Given the description of an element on the screen output the (x, y) to click on. 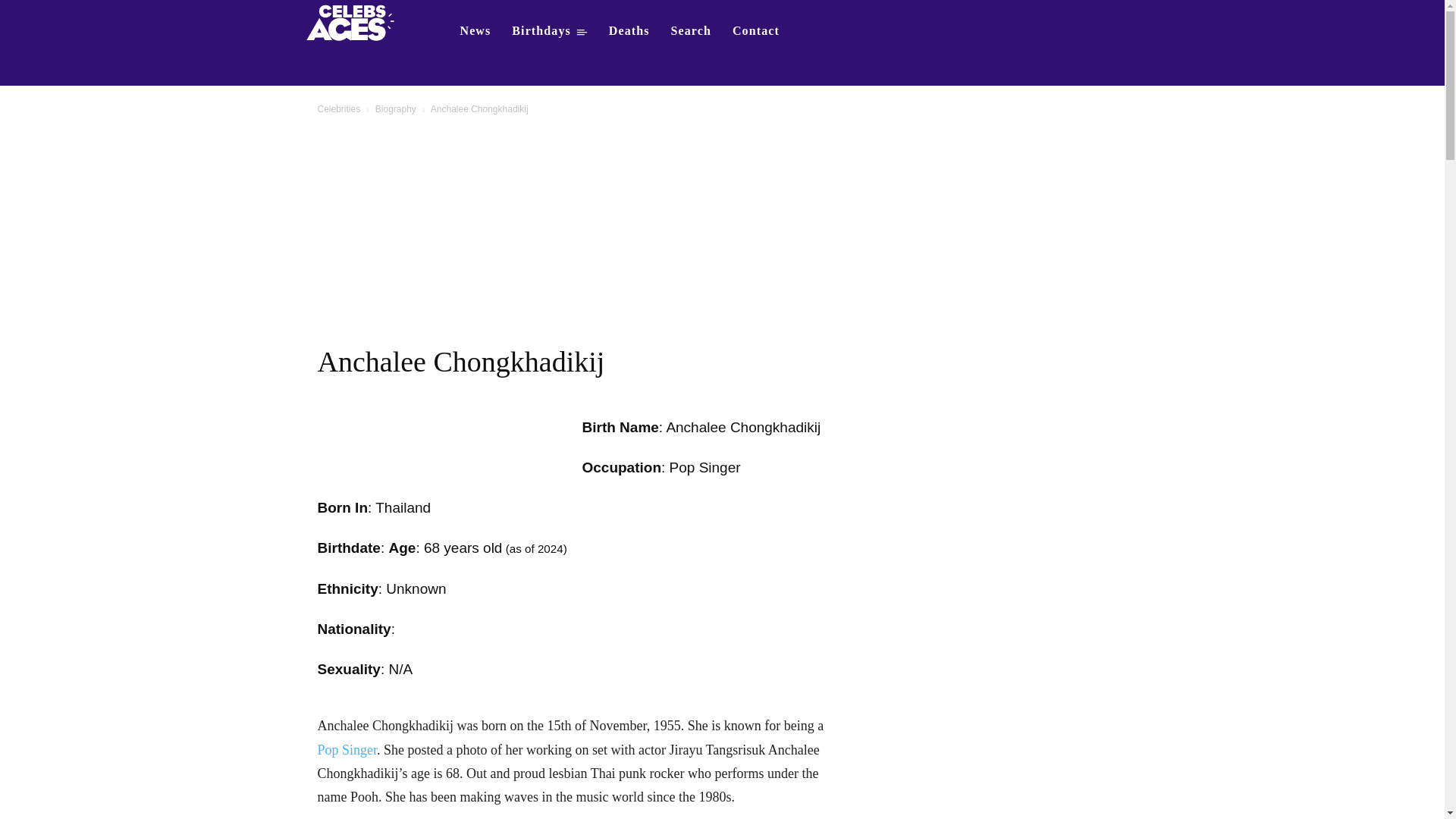
Pop Singer (347, 749)
Deaths (629, 31)
Birthdays (548, 31)
Celebrities (338, 109)
Celebs News (474, 31)
News (474, 31)
Who is dating who (354, 21)
Search (691, 31)
Contact (756, 31)
Biography (395, 109)
